Given the description of an element on the screen output the (x, y) to click on. 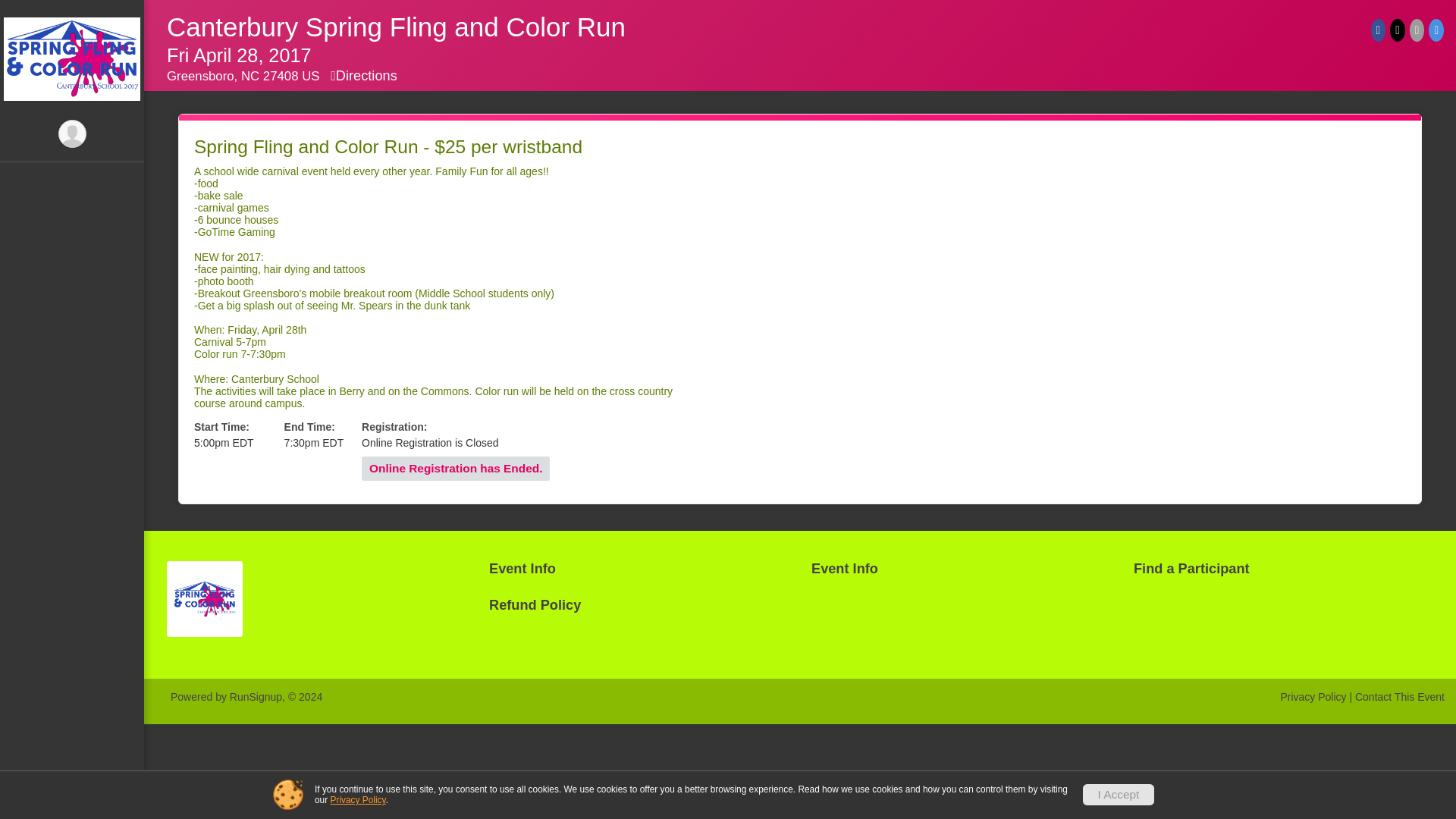
Find a Participant (1283, 569)
Find a Participant (72, 77)
Event Info (960, 569)
Event Info (639, 569)
Contact This Event (1399, 696)
Directions (363, 75)
Event Info (72, 15)
Refund Policy (639, 605)
Privacy Policy (1312, 696)
Event Info (72, 46)
Refund Policy (72, 107)
Canterbury Spring Fling and Color Run (396, 26)
